Given the description of an element on the screen output the (x, y) to click on. 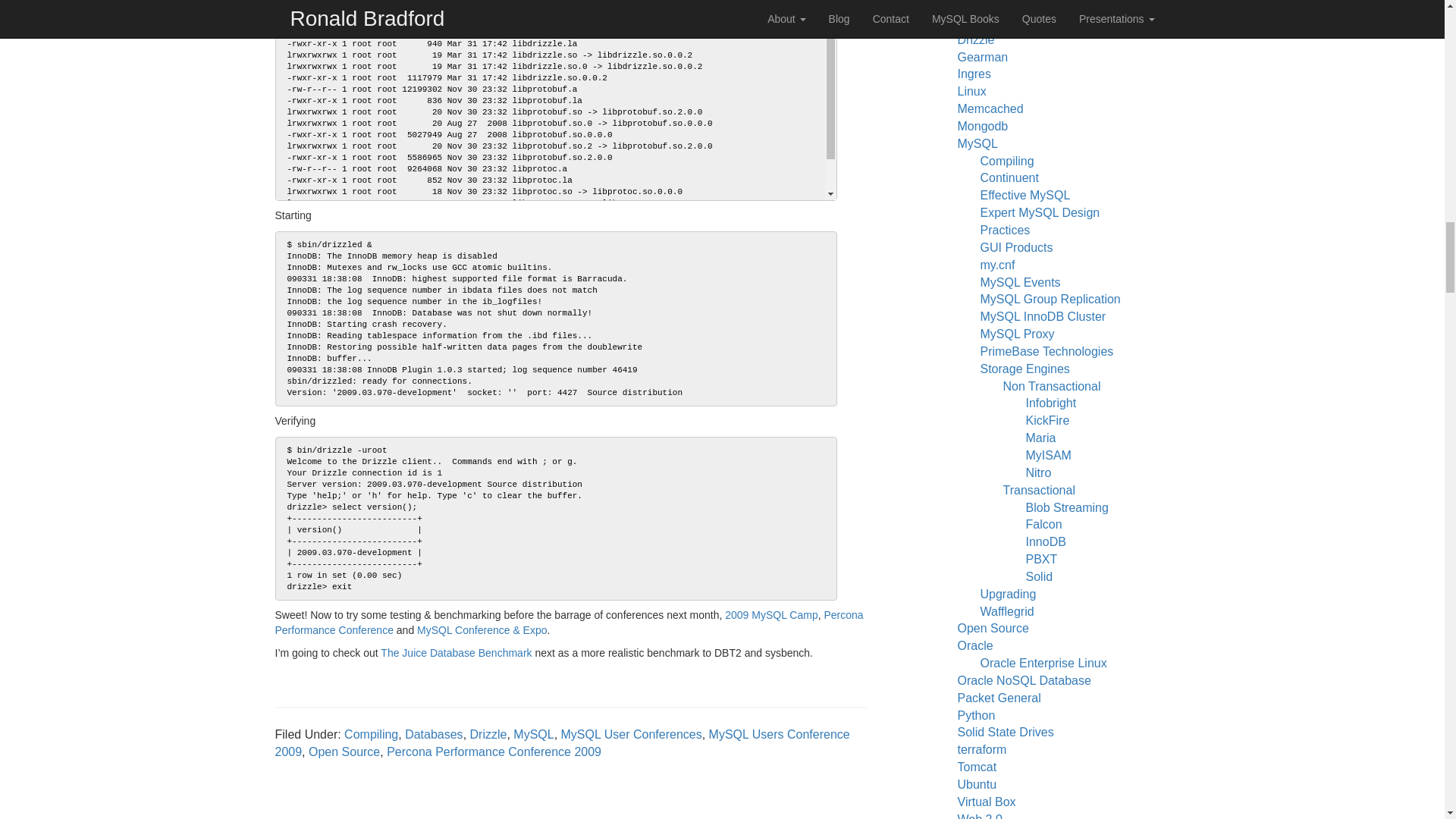
The MySQL Open Source Database (976, 143)
Linux Related system administration or other (970, 91)
Oracle RDBMS (974, 645)
Everything Databases (985, 5)
